Given the description of an element on the screen output the (x, y) to click on. 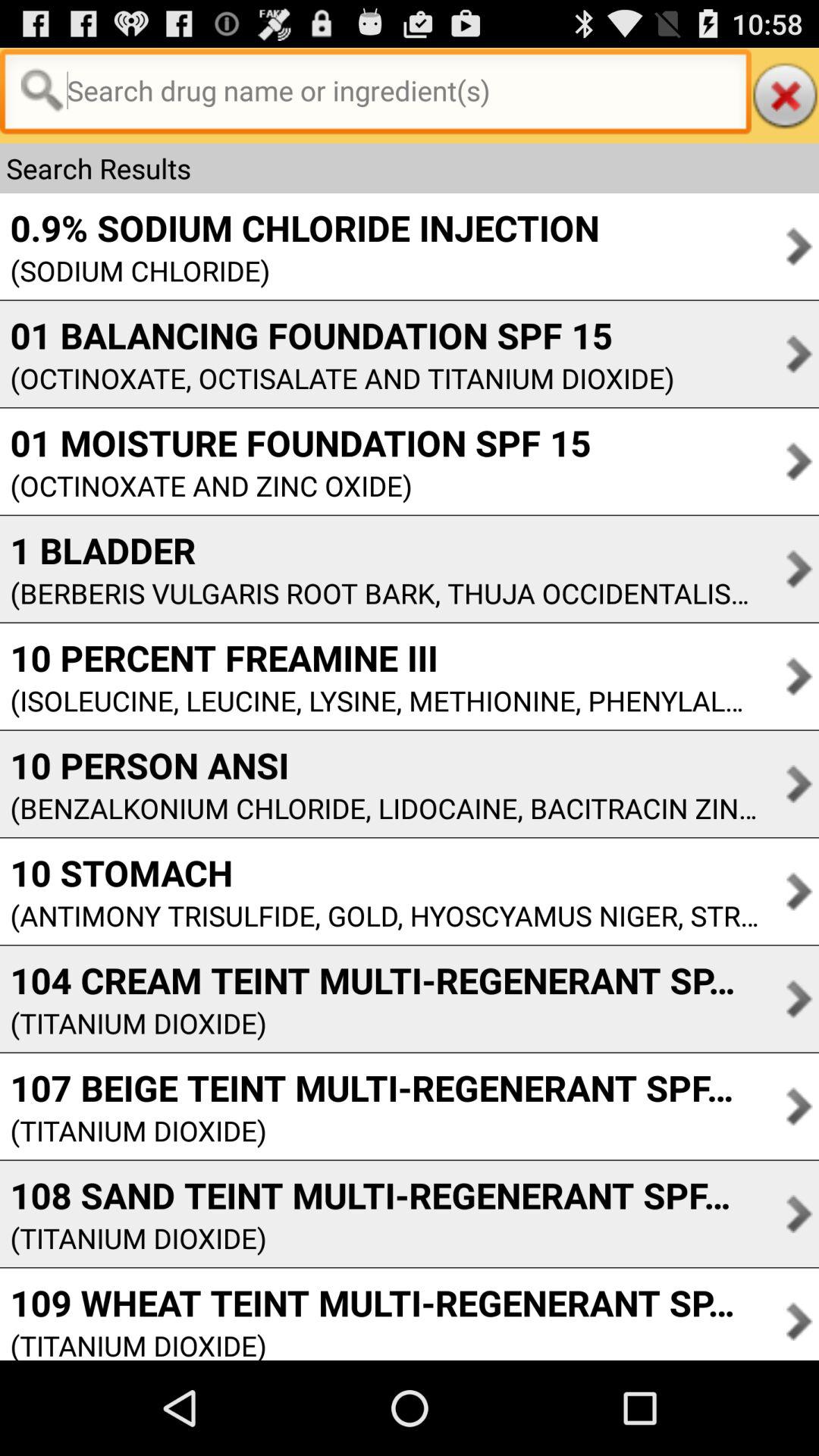
jump until isoleucine leucine lysine icon (379, 700)
